Given the description of an element on the screen output the (x, y) to click on. 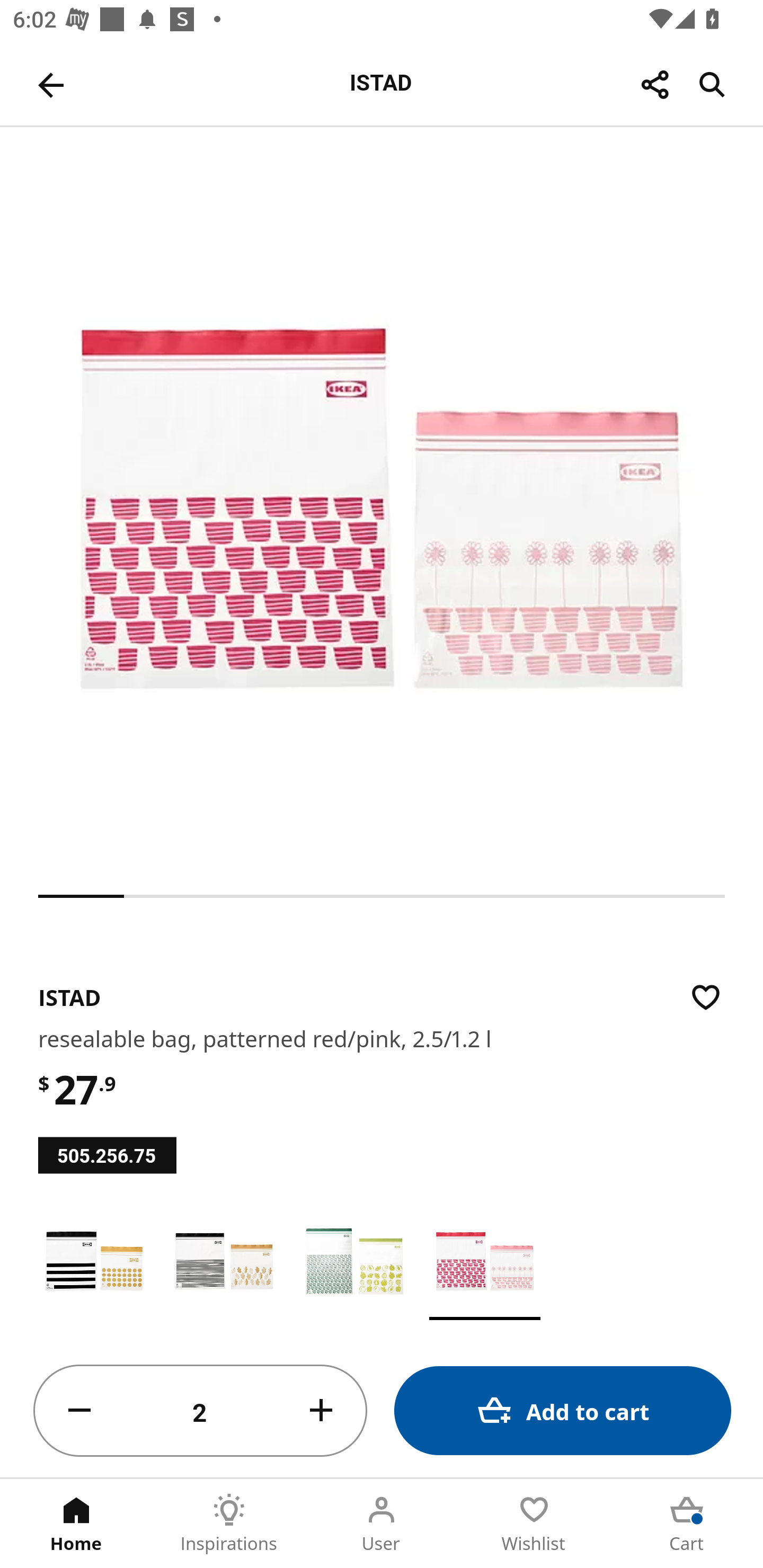
Add to cart (562, 1410)
2 (200, 1411)
Home
Tab 1 of 5 (76, 1522)
Inspirations
Tab 2 of 5 (228, 1522)
User
Tab 3 of 5 (381, 1522)
Wishlist
Tab 4 of 5 (533, 1522)
Cart
Tab 5 of 5 (686, 1522)
